Given the description of an element on the screen output the (x, y) to click on. 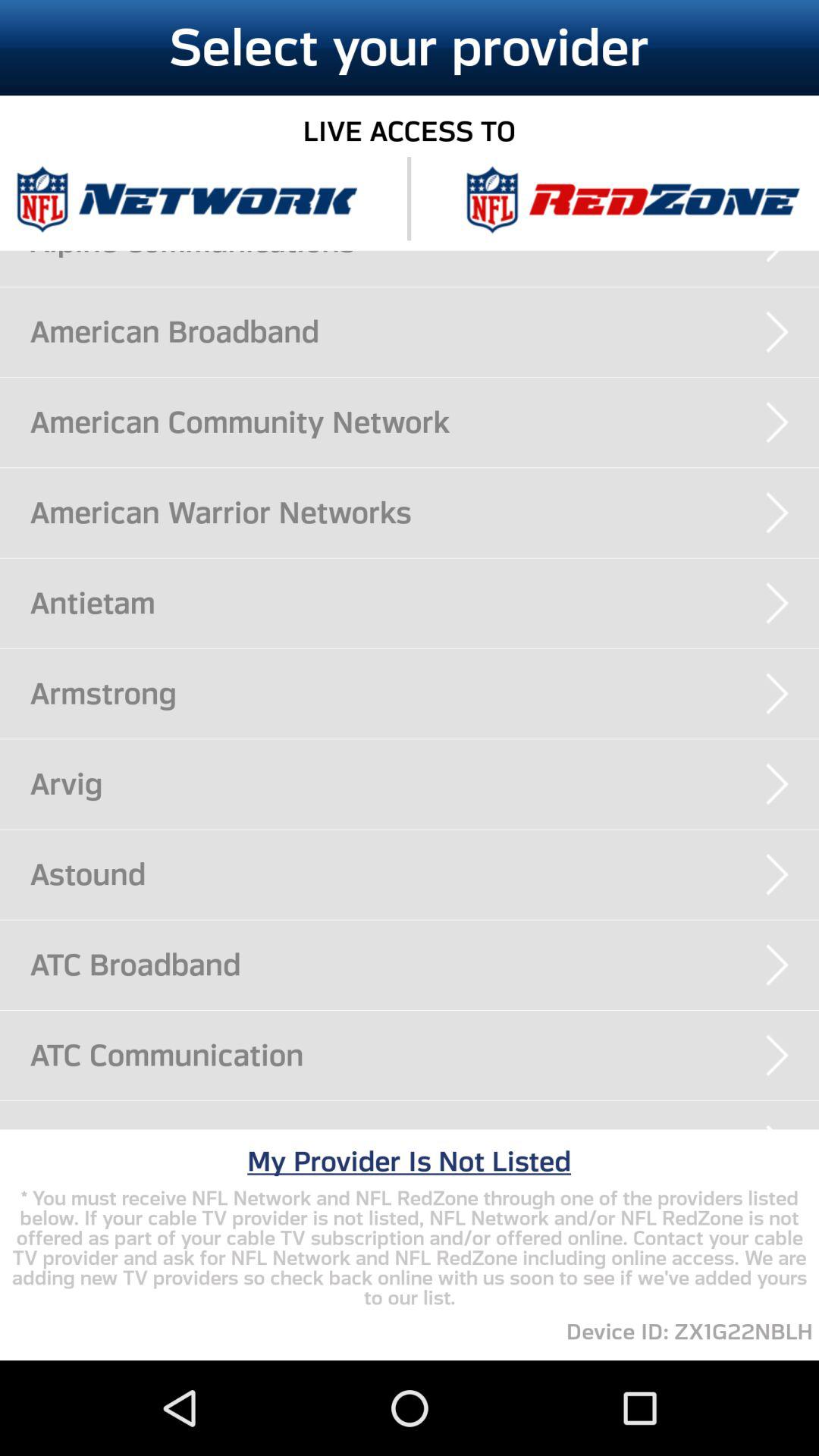
turn off atlantic broadband app (424, 1128)
